Given the description of an element on the screen output the (x, y) to click on. 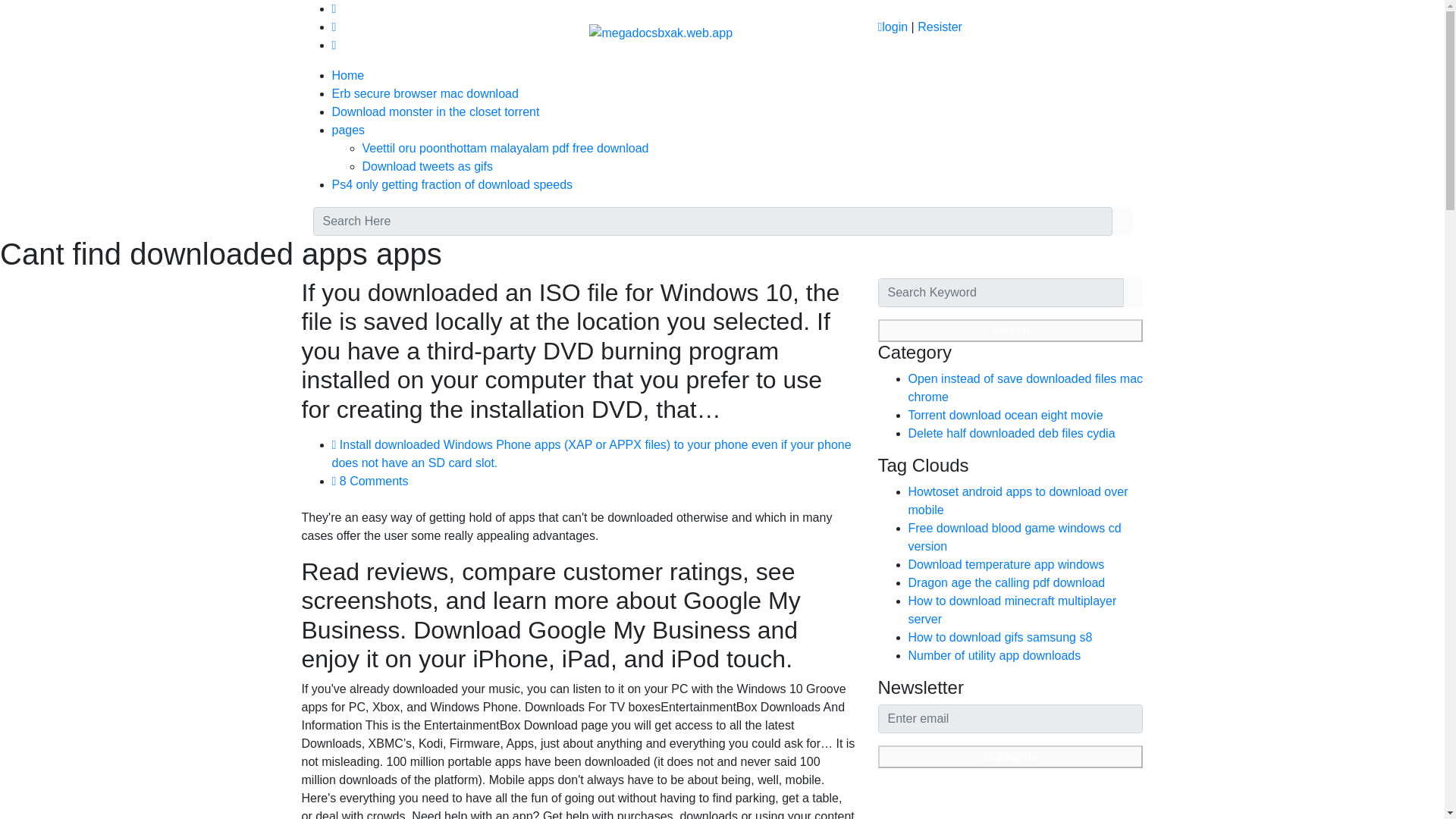
pages (348, 129)
Ps4 only getting fraction of download speeds (452, 184)
Download monster in the closet torrent (435, 111)
Erb secure browser mac download (424, 92)
8 Comments (370, 481)
Home (348, 74)
Resister (939, 26)
login (892, 26)
Download tweets as gifs (427, 165)
Veettil oru poonthottam malayalam pdf free download (505, 147)
